Given the description of an element on the screen output the (x, y) to click on. 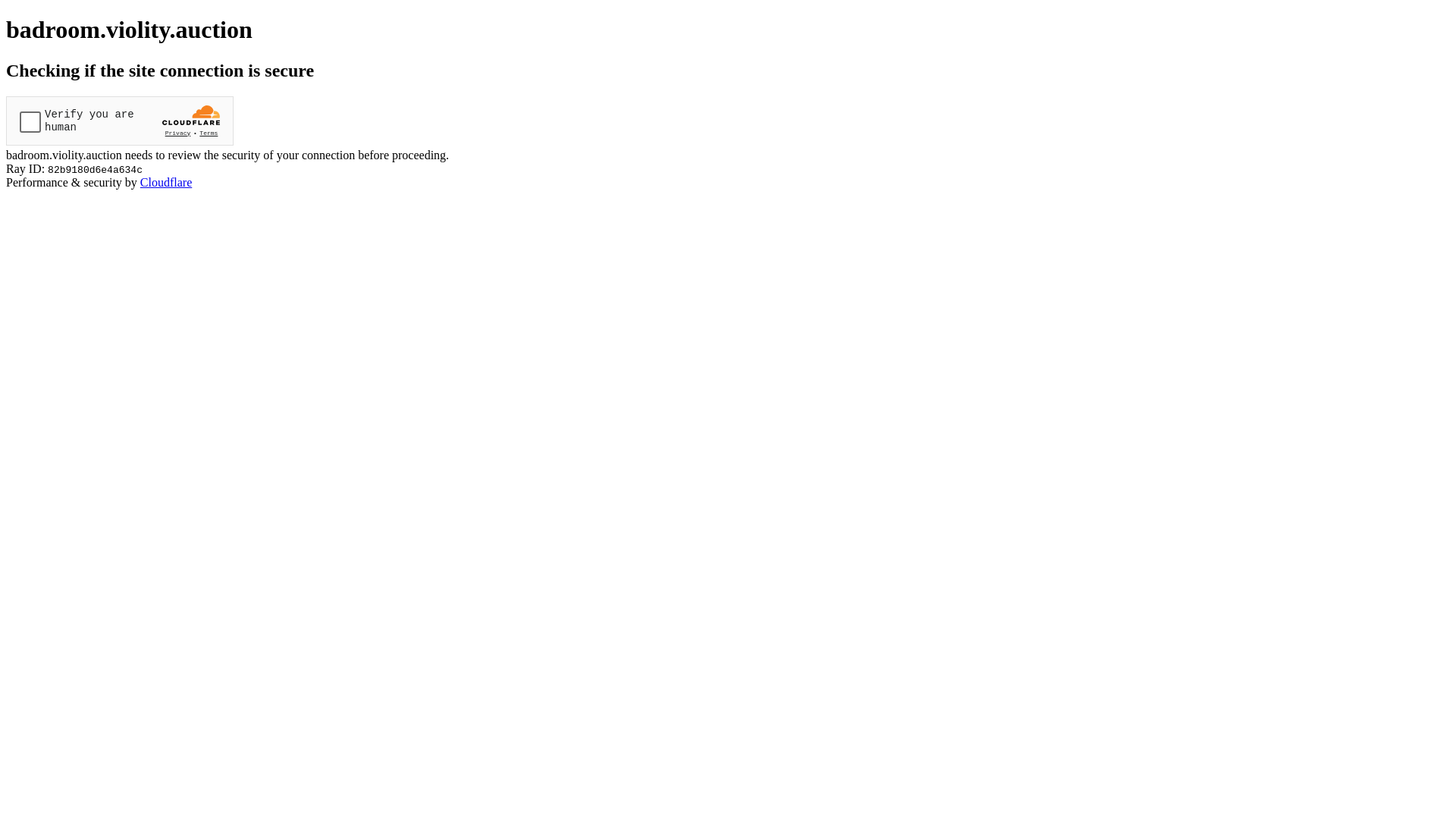
Cloudflare Element type: text (165, 181)
Widget containing a Cloudflare security challenge Element type: hover (119, 120)
